Given the description of an element on the screen output the (x, y) to click on. 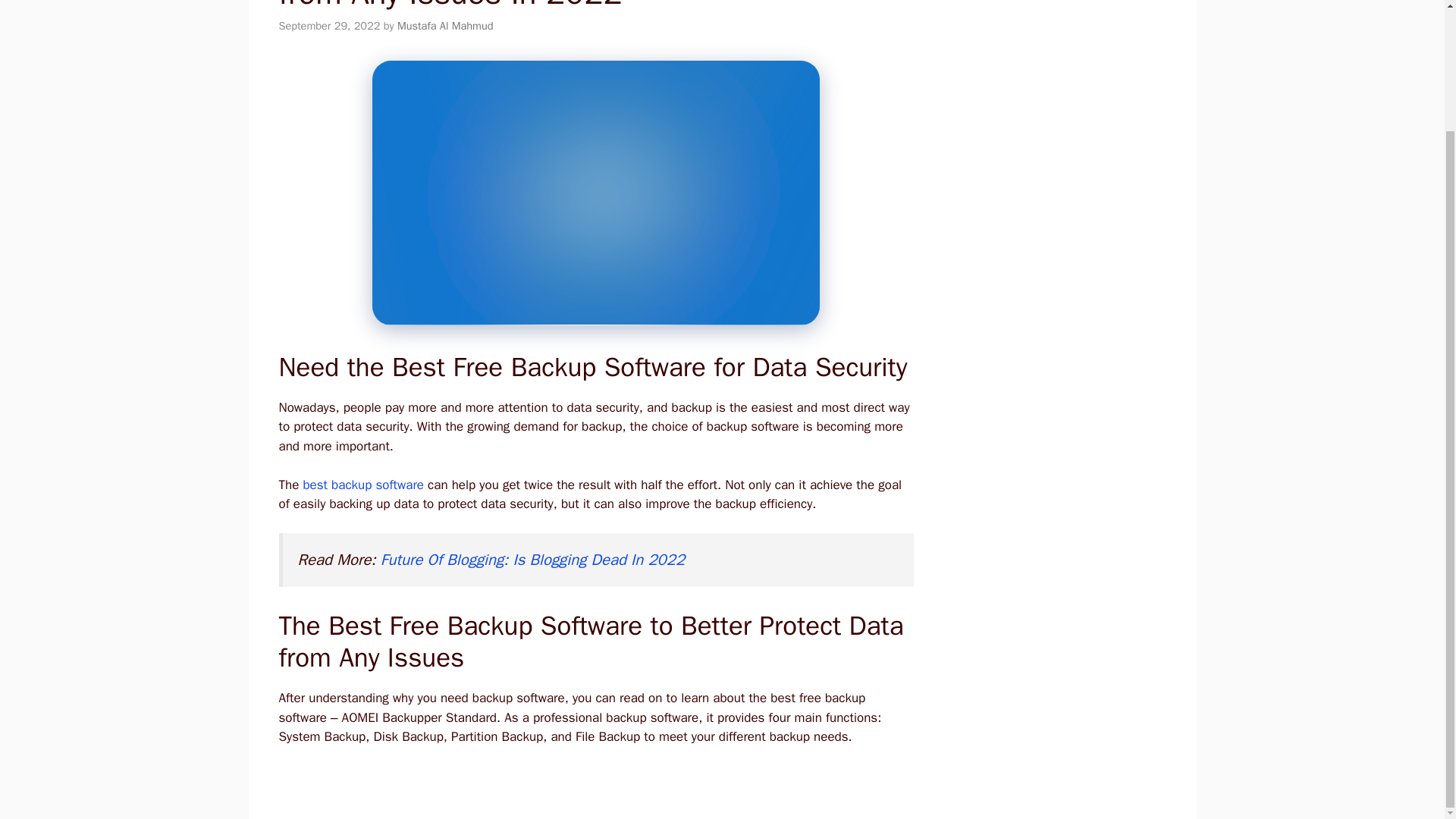
best backup software (362, 484)
Mustafa Al Mahmud (445, 25)
View all posts by Mustafa Al Mahmud (445, 25)
Future Of Blogging: Is Blogging Dead In 2022 (532, 559)
